Given the description of an element on the screen output the (x, y) to click on. 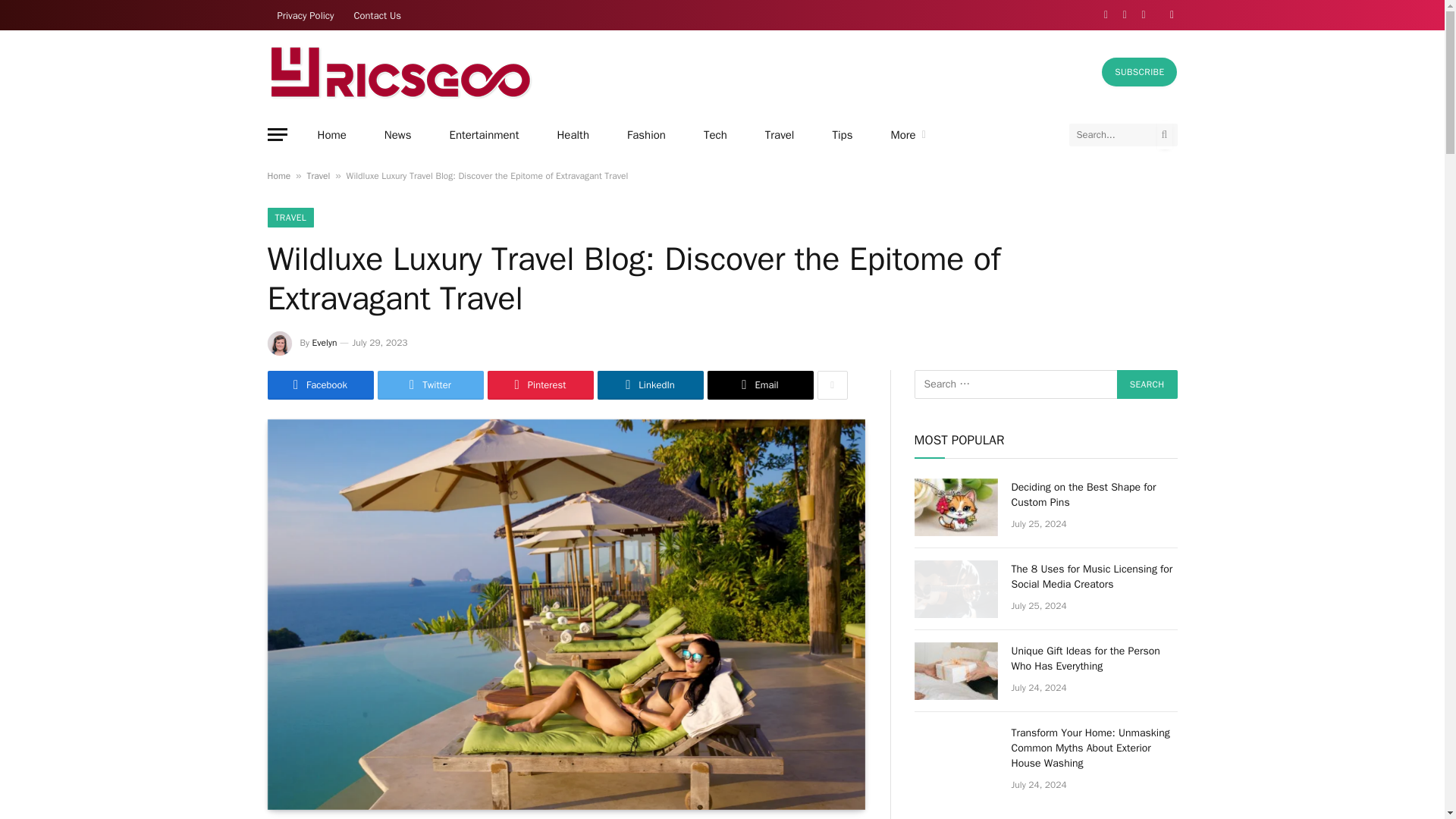
Twitter (430, 385)
Evelyn (325, 342)
Tips (841, 134)
Tech (714, 134)
News (397, 134)
Travel (779, 134)
Entertainment (484, 134)
Home (331, 134)
TRAVEL (290, 217)
